Given the description of an element on the screen output the (x, y) to click on. 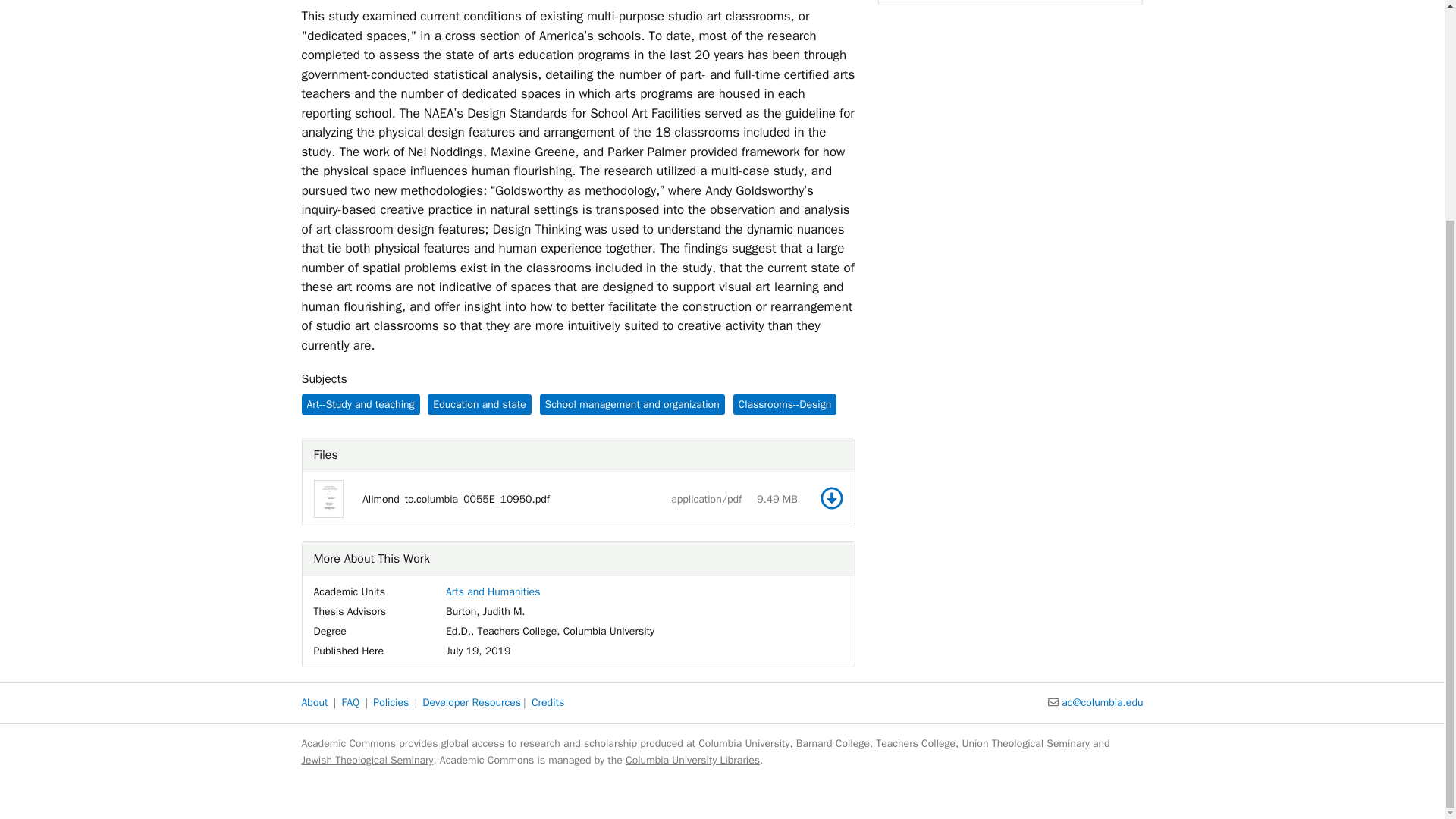
Download file (832, 497)
Download file (832, 497)
About (315, 702)
Teachers College (915, 743)
Arts and Humanities (492, 591)
Developer Resources (471, 702)
Classrooms--Design (783, 403)
FAQ (349, 702)
School management and organization (632, 403)
Columbia University (743, 743)
